Given the description of an element on the screen output the (x, y) to click on. 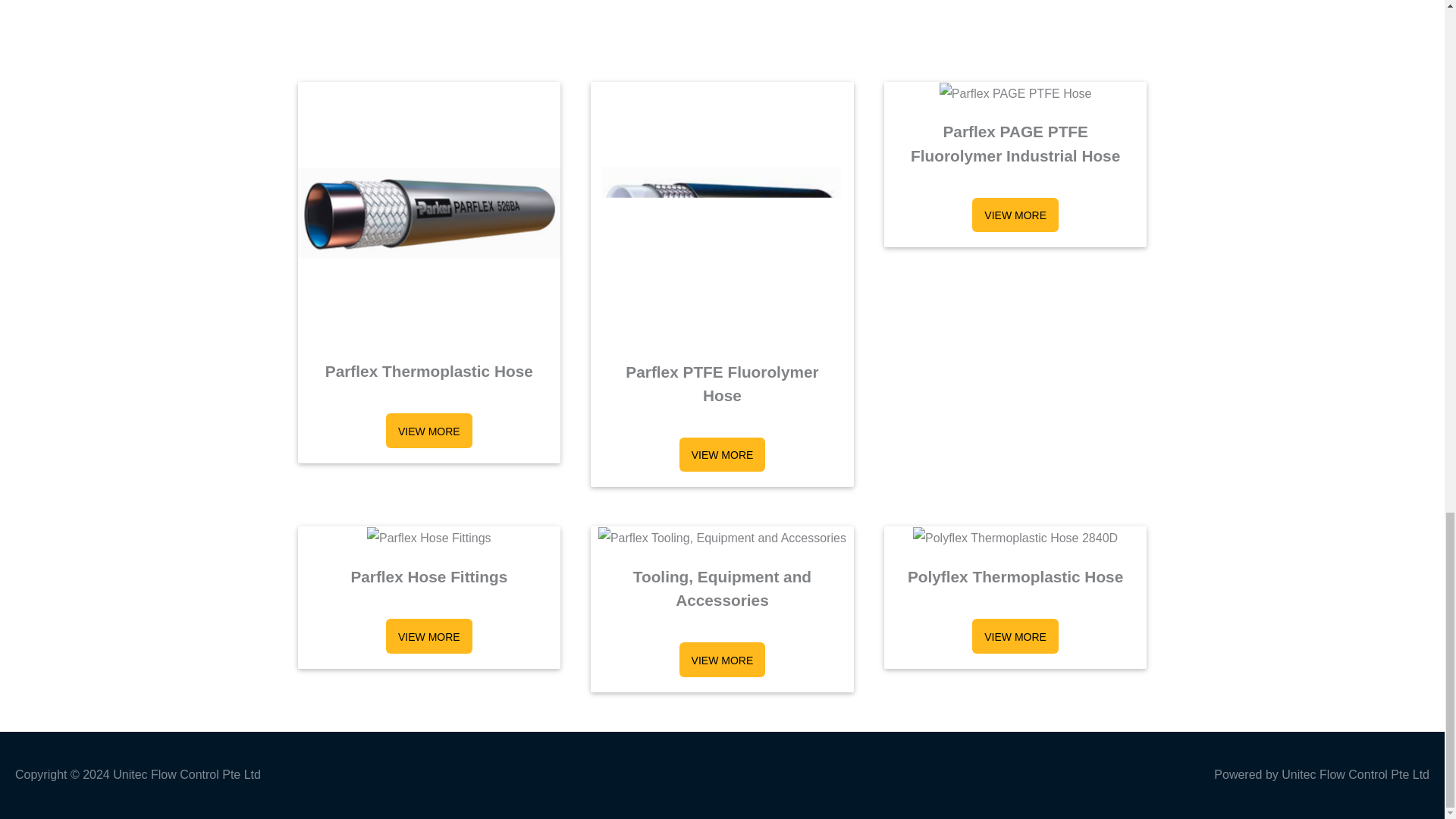
VIEW MORE (1015, 636)
VIEW MORE (428, 636)
VIEW MORE (1015, 215)
VIEW MORE (722, 454)
VIEW MORE (722, 659)
VIEW MORE (428, 430)
